Given the description of an element on the screen output the (x, y) to click on. 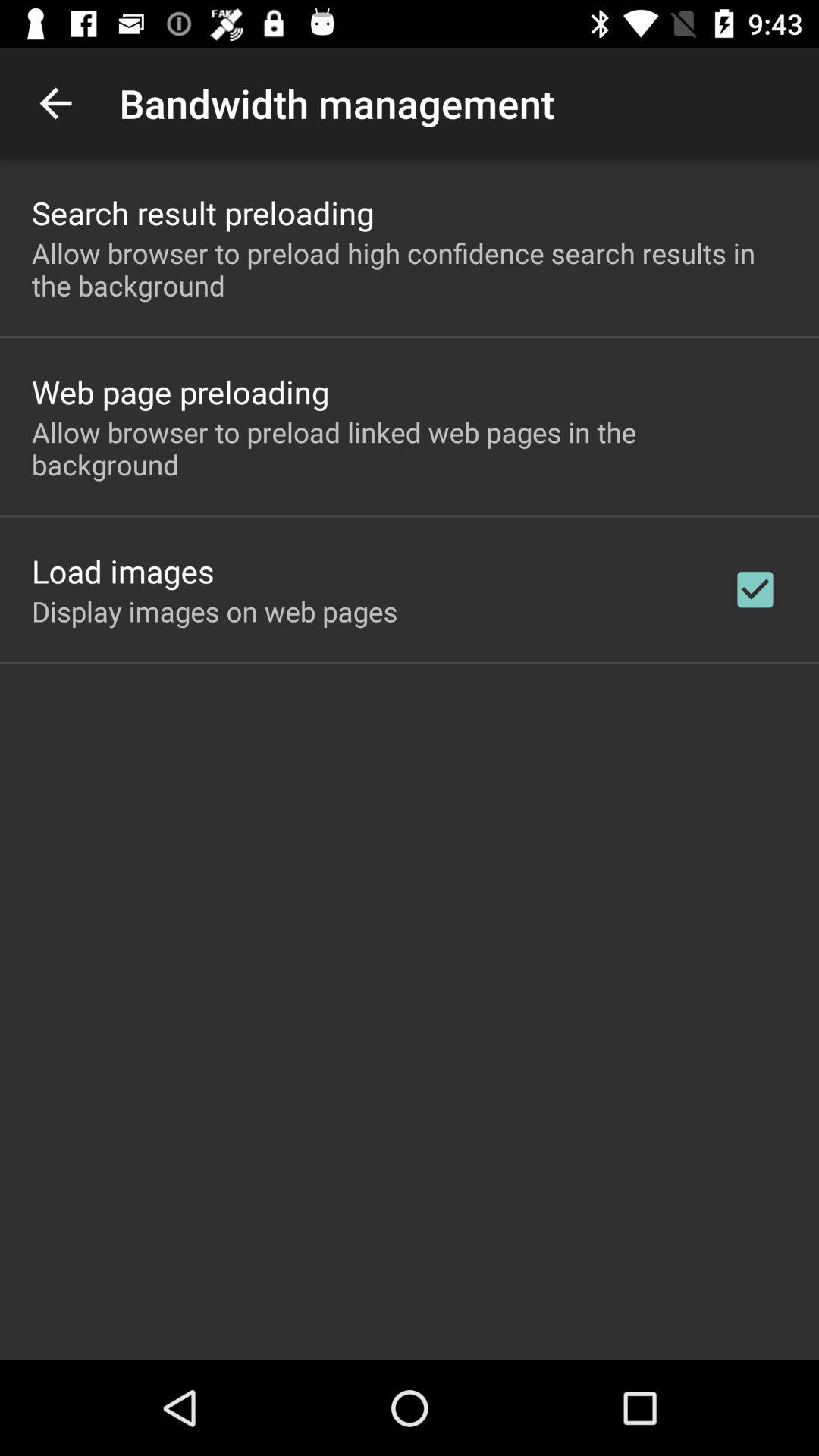
turn on the web page preloading (180, 391)
